Given the description of an element on the screen output the (x, y) to click on. 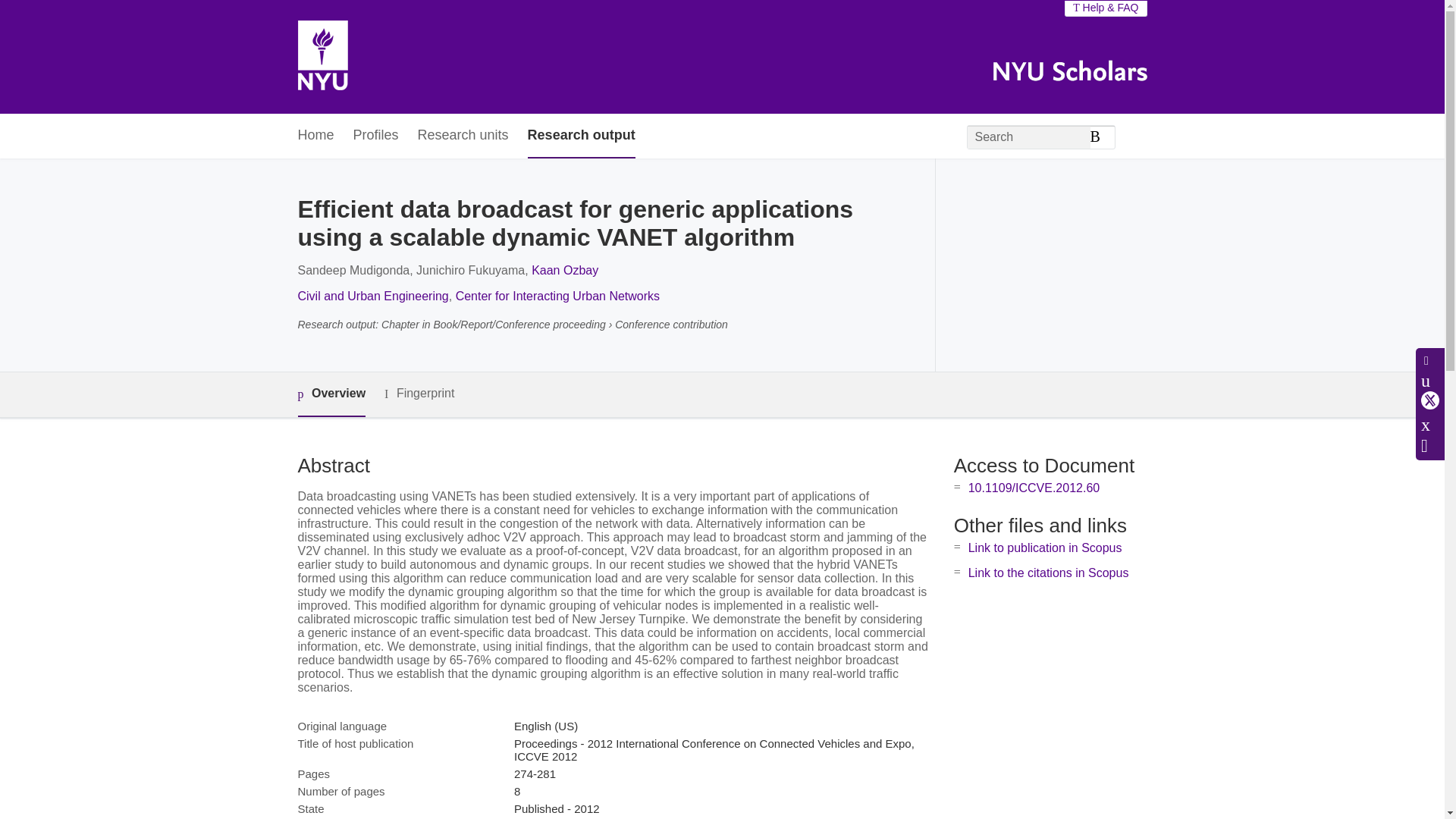
Overview (331, 394)
Fingerprint (419, 393)
Research output (580, 135)
Link to publication in Scopus (1045, 547)
Civil and Urban Engineering (372, 295)
Research units (462, 135)
Link to the citations in Scopus (1048, 572)
Profiles (375, 135)
Kaan Ozbay (564, 269)
Center for Interacting Urban Networks (557, 295)
